Given the description of an element on the screen output the (x, y) to click on. 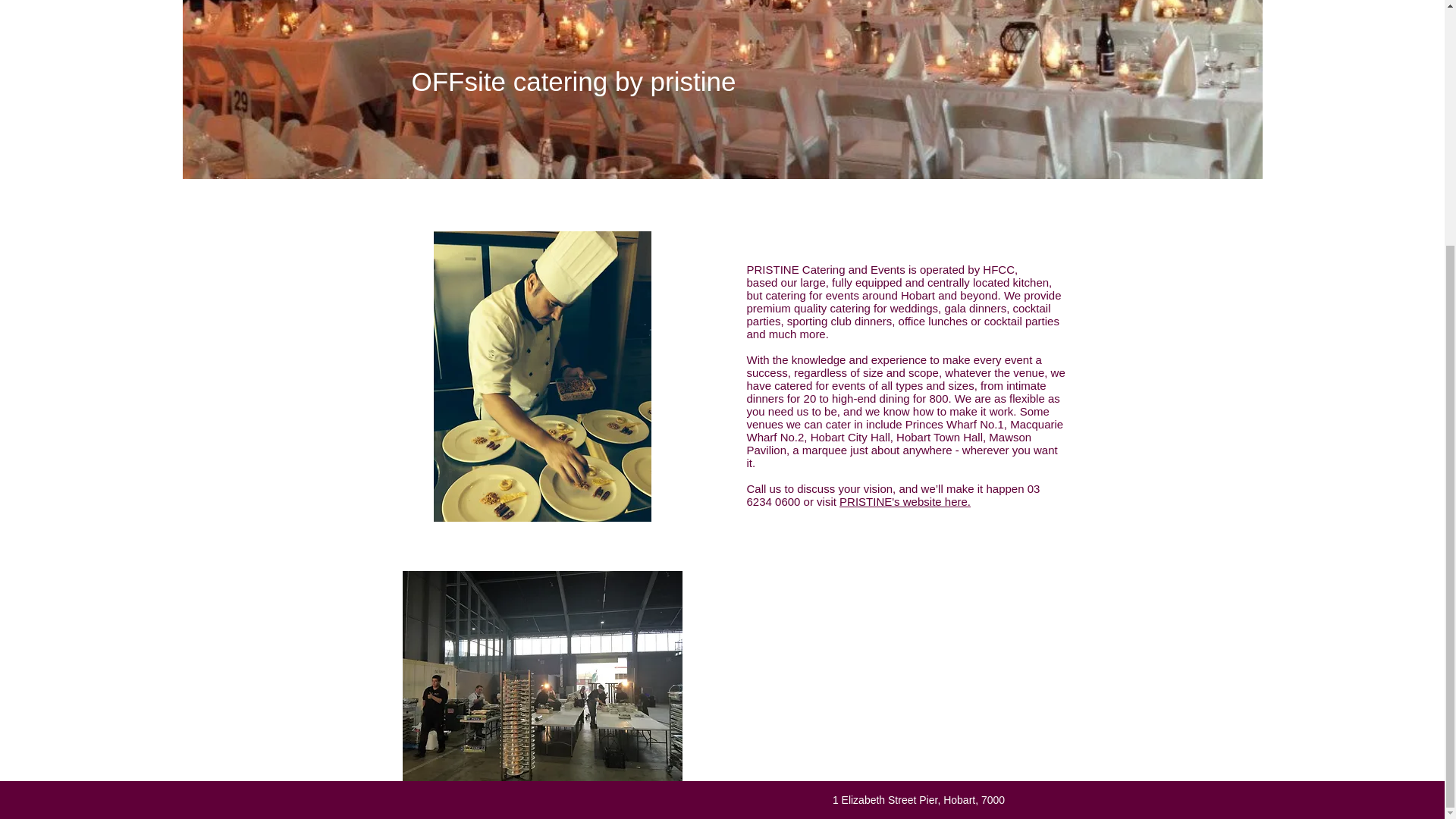
External YouTube (907, 675)
PRISTINE's website here. (905, 501)
